Given the description of an element on the screen output the (x, y) to click on. 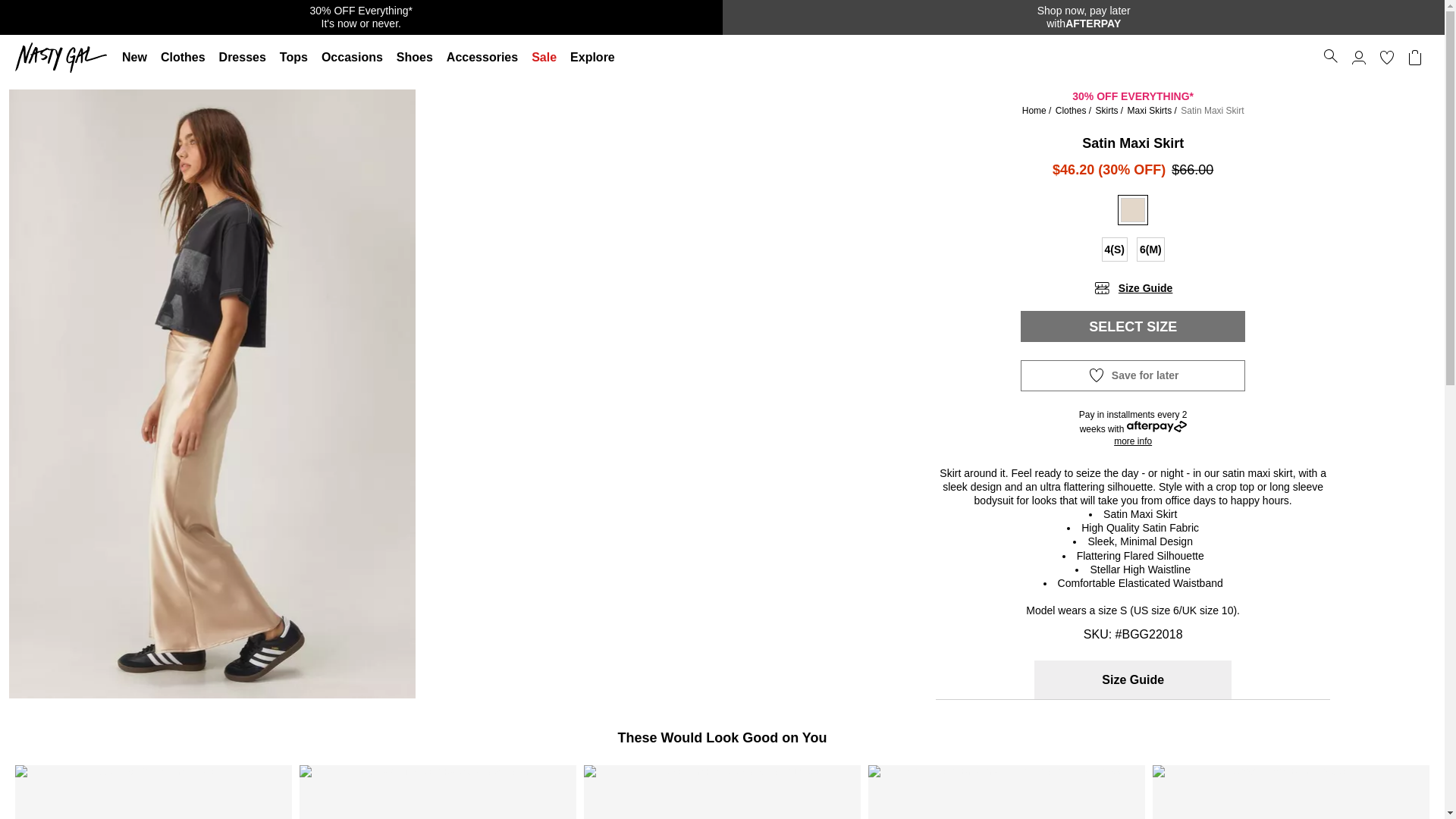
Search (1330, 55)
Nasty Gal (64, 57)
Clothes (183, 57)
Wish List (1386, 57)
